Given the description of an element on the screen output the (x, y) to click on. 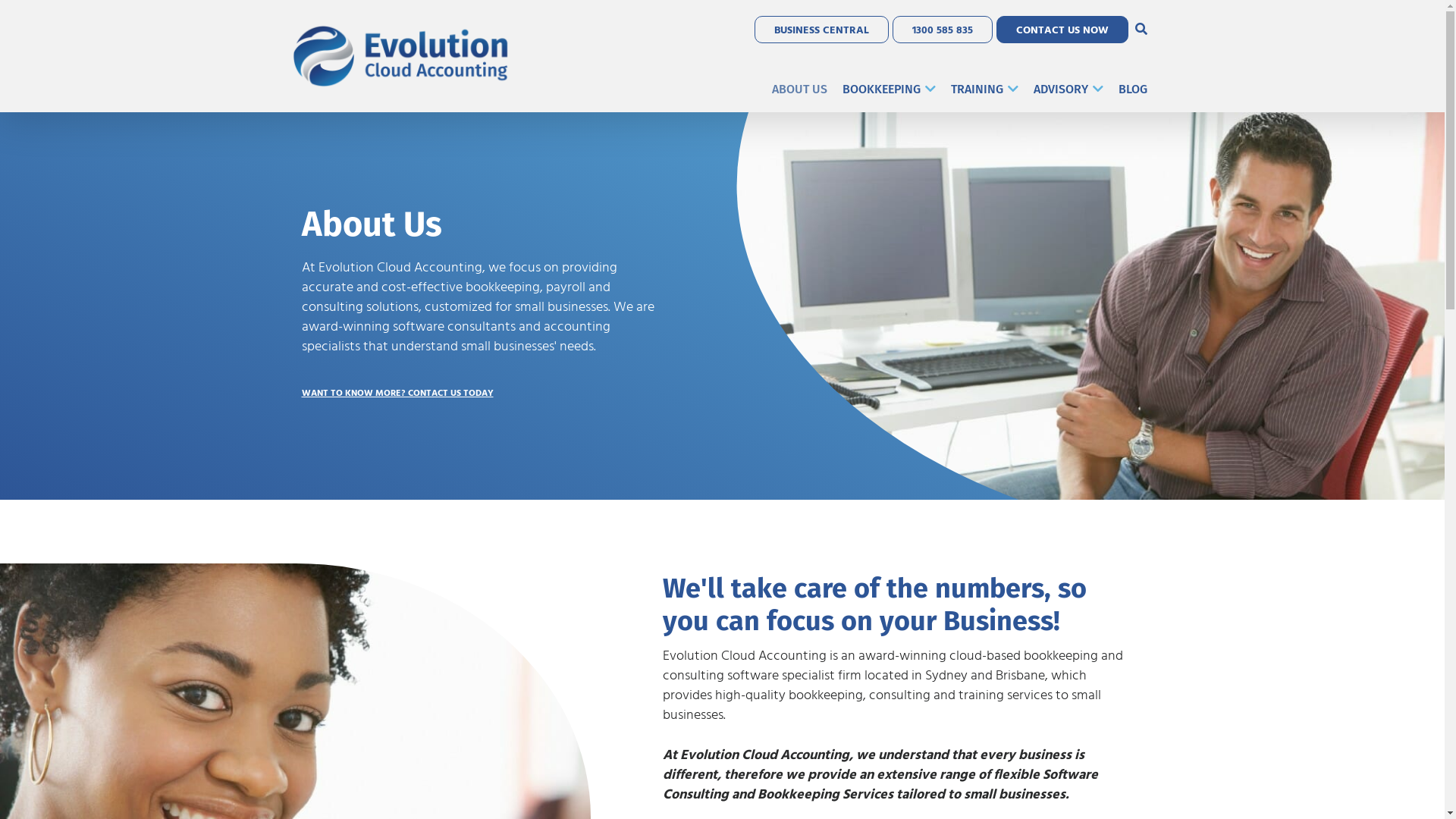
CONTACT US NOW Element type: text (1062, 29)
WANT TO KNOW MORE? CONTACT US TODAY Element type: text (406, 391)
BLOG Element type: text (1132, 89)
TRAINING Element type: text (984, 89)
BOOKKEEPING Element type: text (888, 89)
ADVISORY Element type: text (1067, 89)
1300 585 835 Element type: text (941, 29)
ABOUT US Element type: text (799, 89)
BUSINESS CENTRAL Element type: text (820, 29)
